Given the description of an element on the screen output the (x, y) to click on. 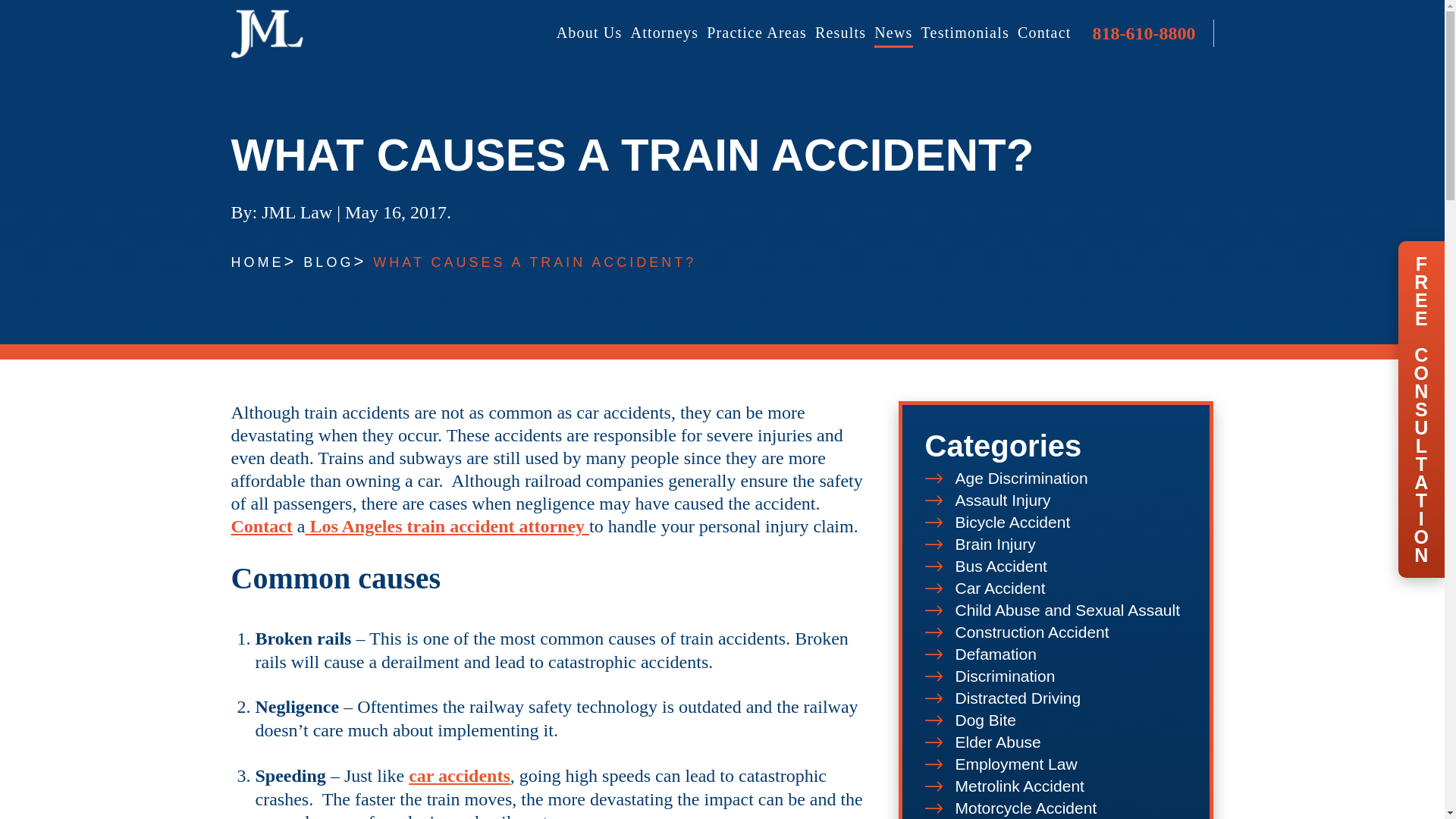
Practice Areas (756, 32)
Home (256, 262)
About Us (589, 32)
JML Law (266, 33)
Los Angeles train accident attorney (446, 526)
car accidents (460, 775)
Attorneys (664, 32)
Blog (327, 262)
